Given the description of an element on the screen output the (x, y) to click on. 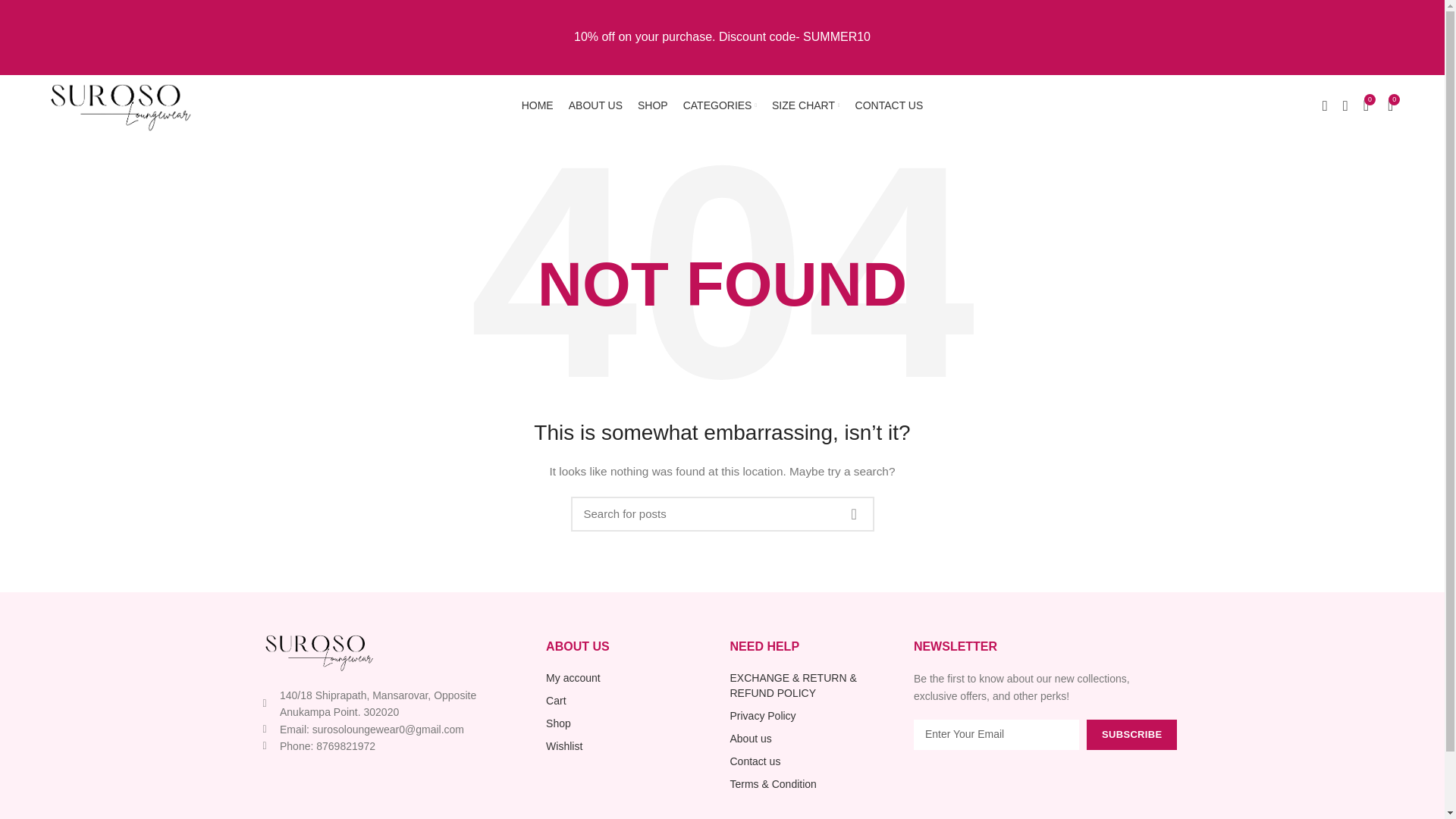
Wishlist (630, 745)
HOME (536, 105)
Privacy Policy (813, 715)
Shop (630, 723)
ABOUT US (595, 105)
Contact us (813, 761)
CATEGORIES (719, 105)
SUBSCRIBE (1131, 734)
About us (813, 738)
SIZE CHART (805, 105)
